Given the description of an element on the screen output the (x, y) to click on. 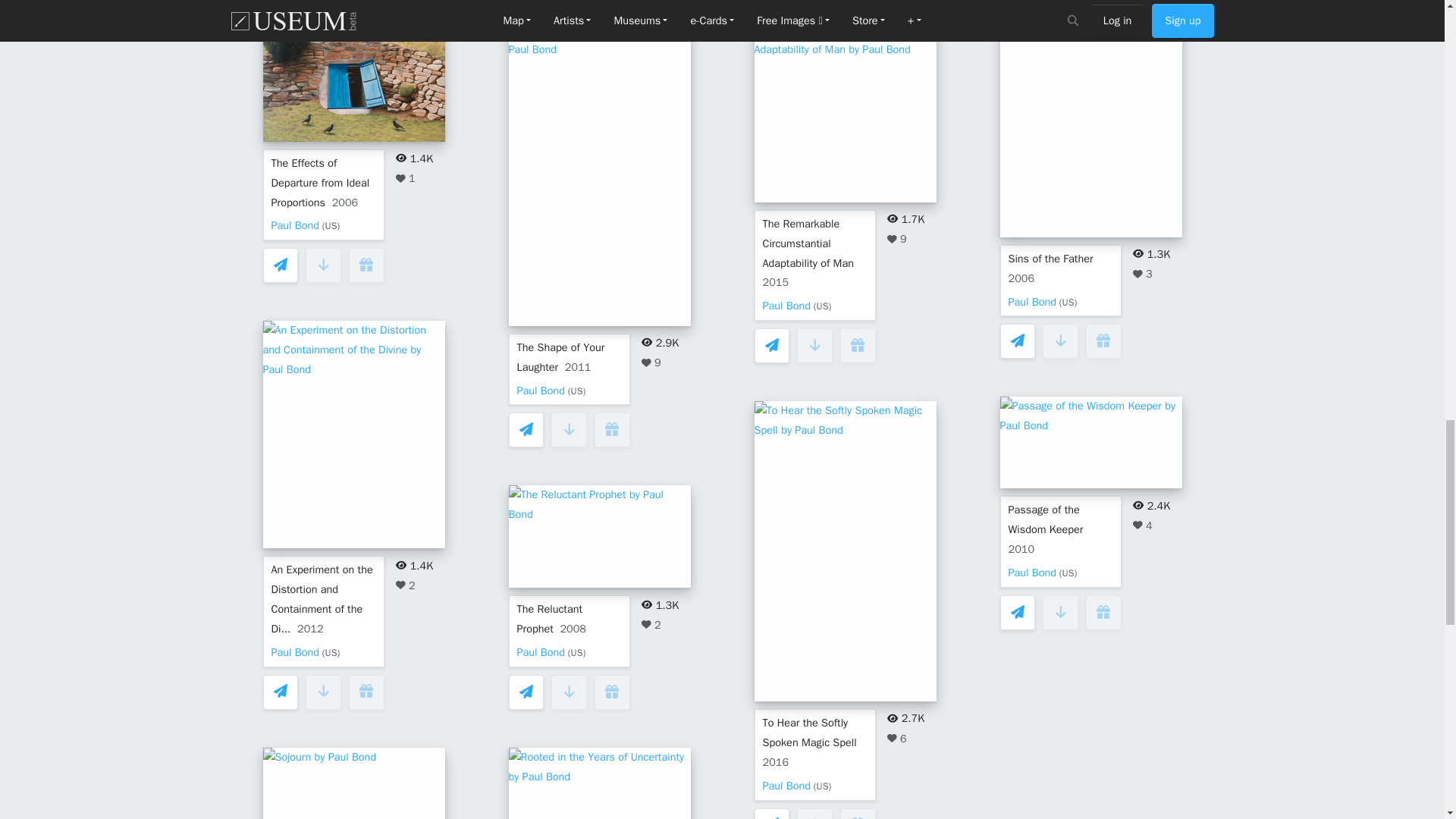
US (576, 390)
US (330, 653)
US (330, 225)
US (1068, 302)
US (822, 306)
US (576, 653)
US (1068, 573)
US (822, 786)
